Given the description of an element on the screen output the (x, y) to click on. 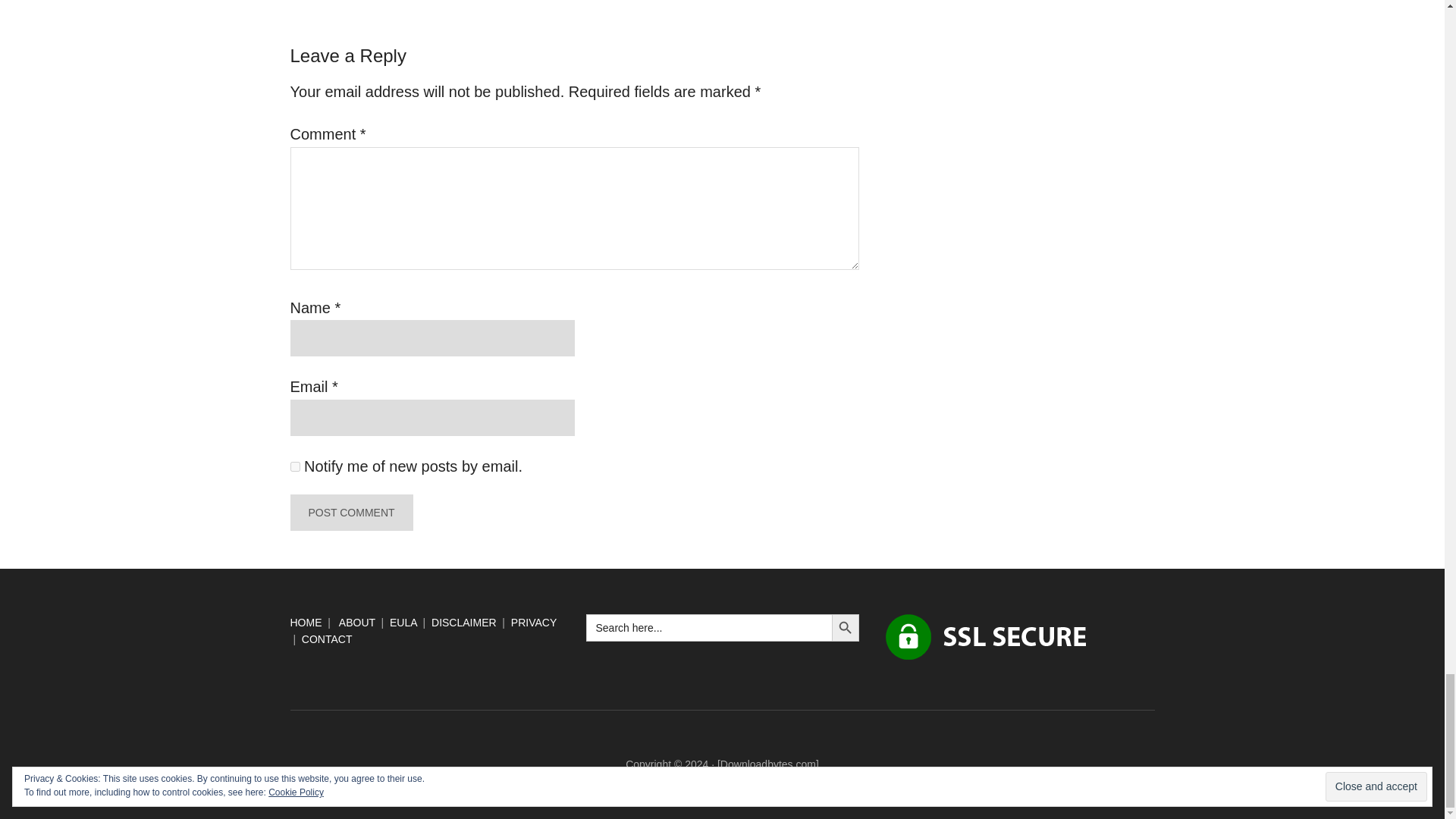
subscribe (294, 466)
Post Comment (350, 512)
Post Comment (350, 512)
